Given the description of an element on the screen output the (x, y) to click on. 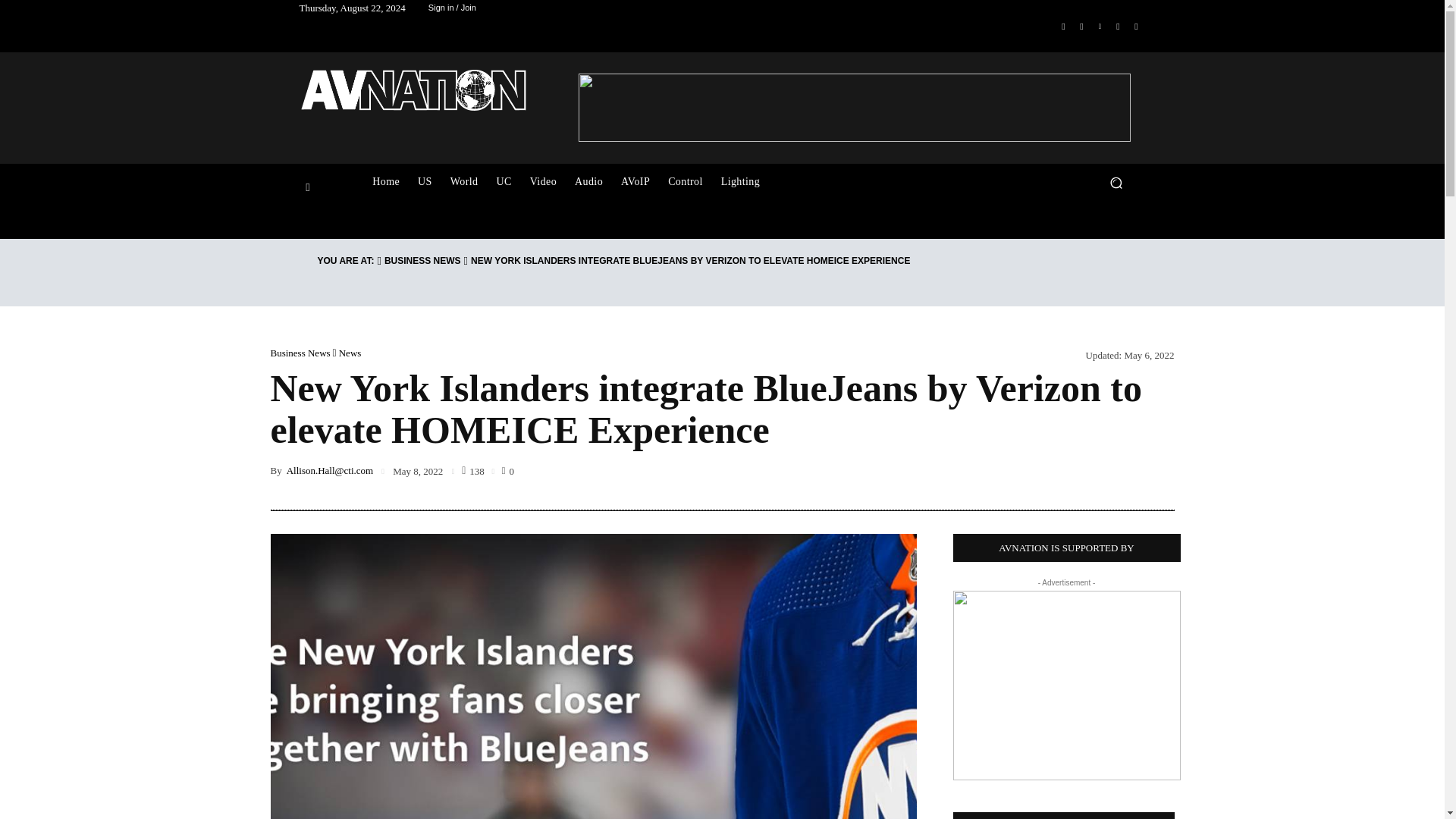
Video (543, 181)
Twitter (1117, 25)
UC (502, 181)
US (425, 181)
Linkedin (1099, 25)
Youtube (1135, 25)
Instagram (1080, 25)
Facebook (1062, 25)
Home (385, 181)
World (464, 181)
